Given the description of an element on the screen output the (x, y) to click on. 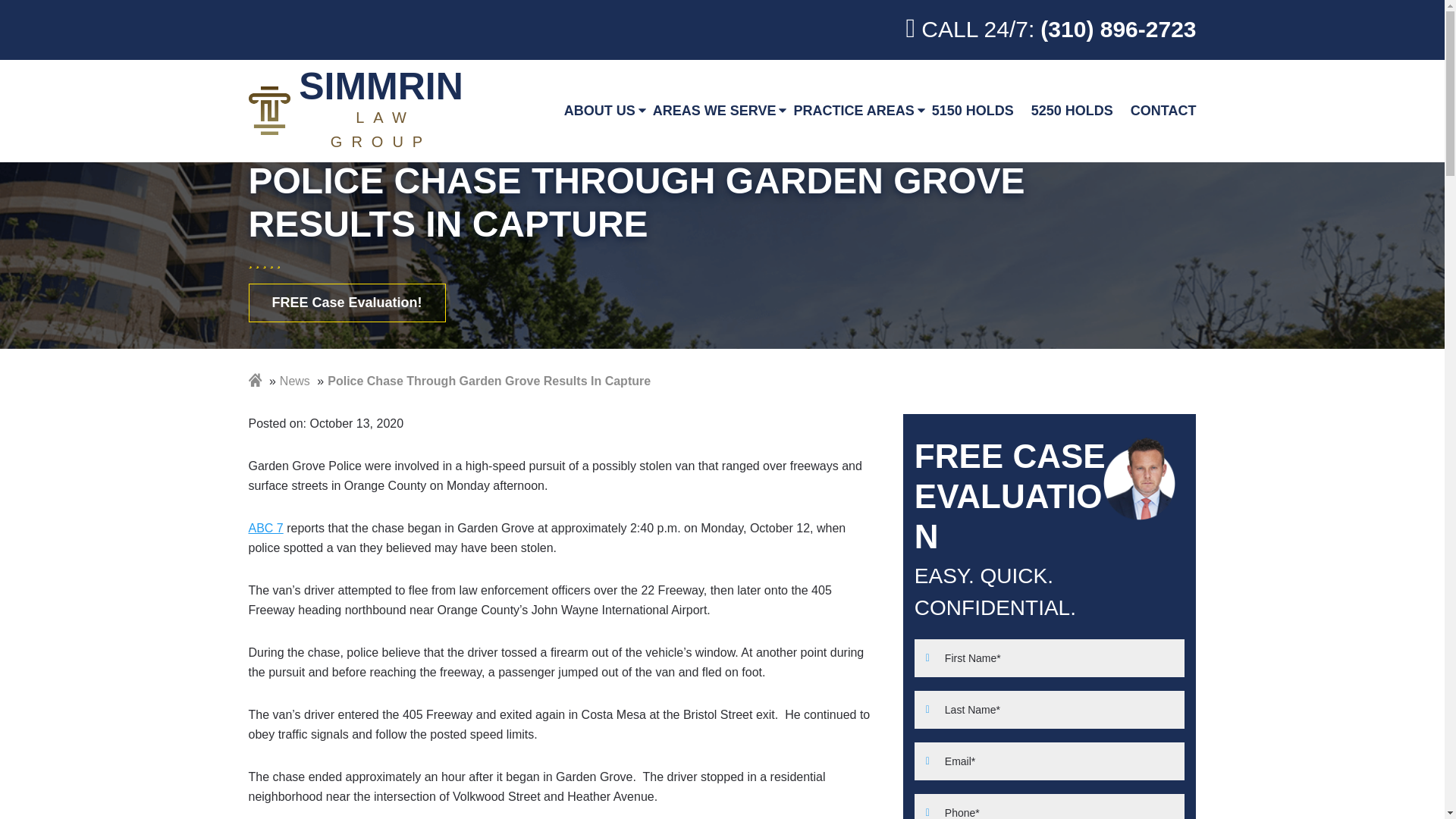
Simmrin Law (358, 110)
phone (1050, 29)
Mike (1138, 478)
ABOUT US (599, 110)
AREAS WE SERVE (714, 110)
